Given the description of an element on the screen output the (x, y) to click on. 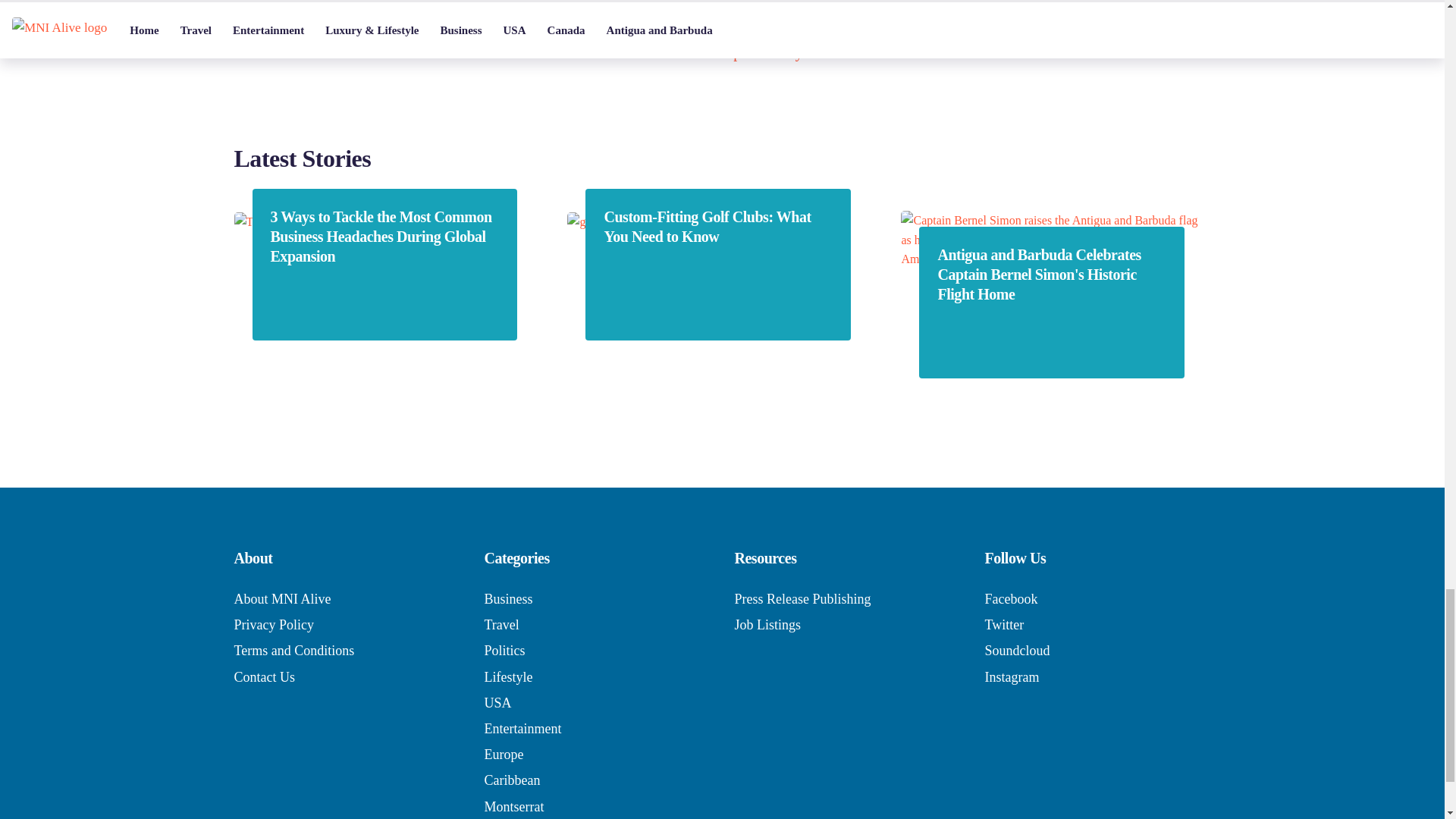
Caribbean (511, 780)
Terms and Conditions (292, 650)
About MNI Alive (281, 598)
Twitter (1003, 624)
USA (497, 702)
Politics (503, 650)
Custom-Fitting Golf Clubs: What You Need to Know (717, 226)
Facebook (1010, 598)
Job Listings (766, 624)
Lifestyle (507, 676)
Entertainment (521, 728)
Contact Us (263, 676)
Privacy Policy (273, 624)
